Given the description of an element on the screen output the (x, y) to click on. 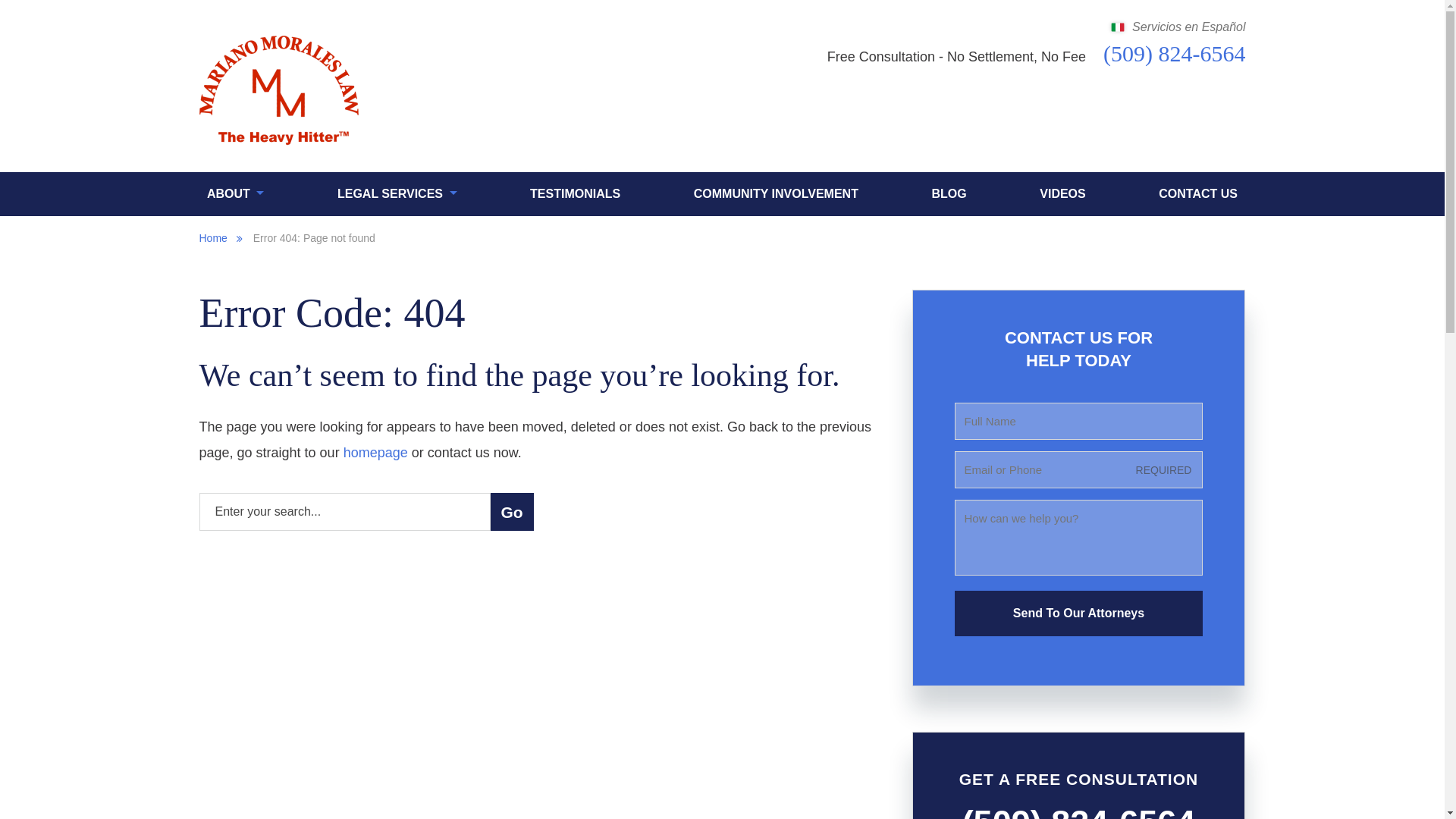
ABOUT (234, 193)
LEGAL SERVICES (397, 193)
Go (510, 511)
